Given the description of an element on the screen output the (x, y) to click on. 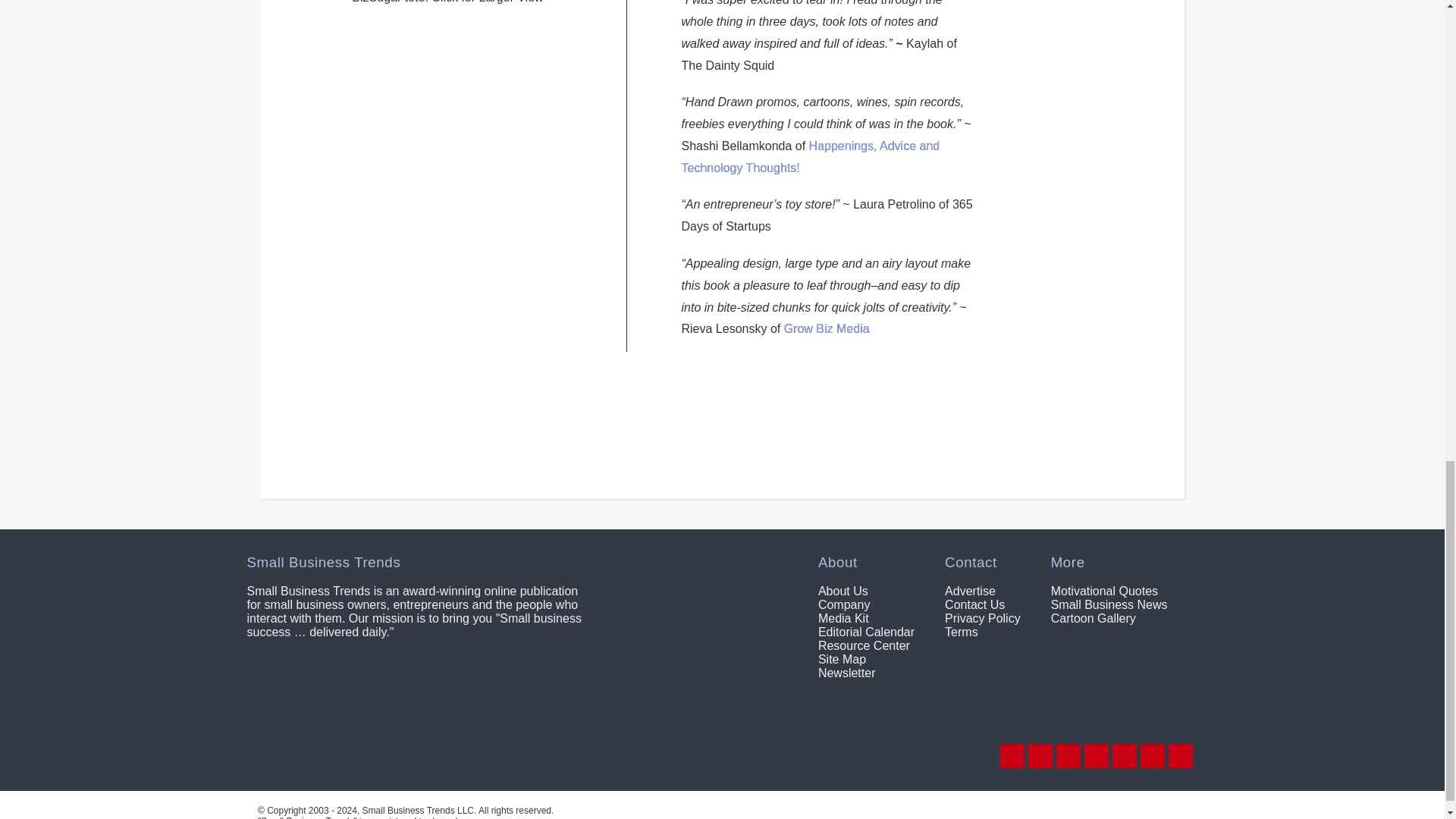
VM book2 (874, 414)
VM Chapter 1 (623, 415)
Visual Marketing on Shelves (470, 415)
